Given the description of an element on the screen output the (x, y) to click on. 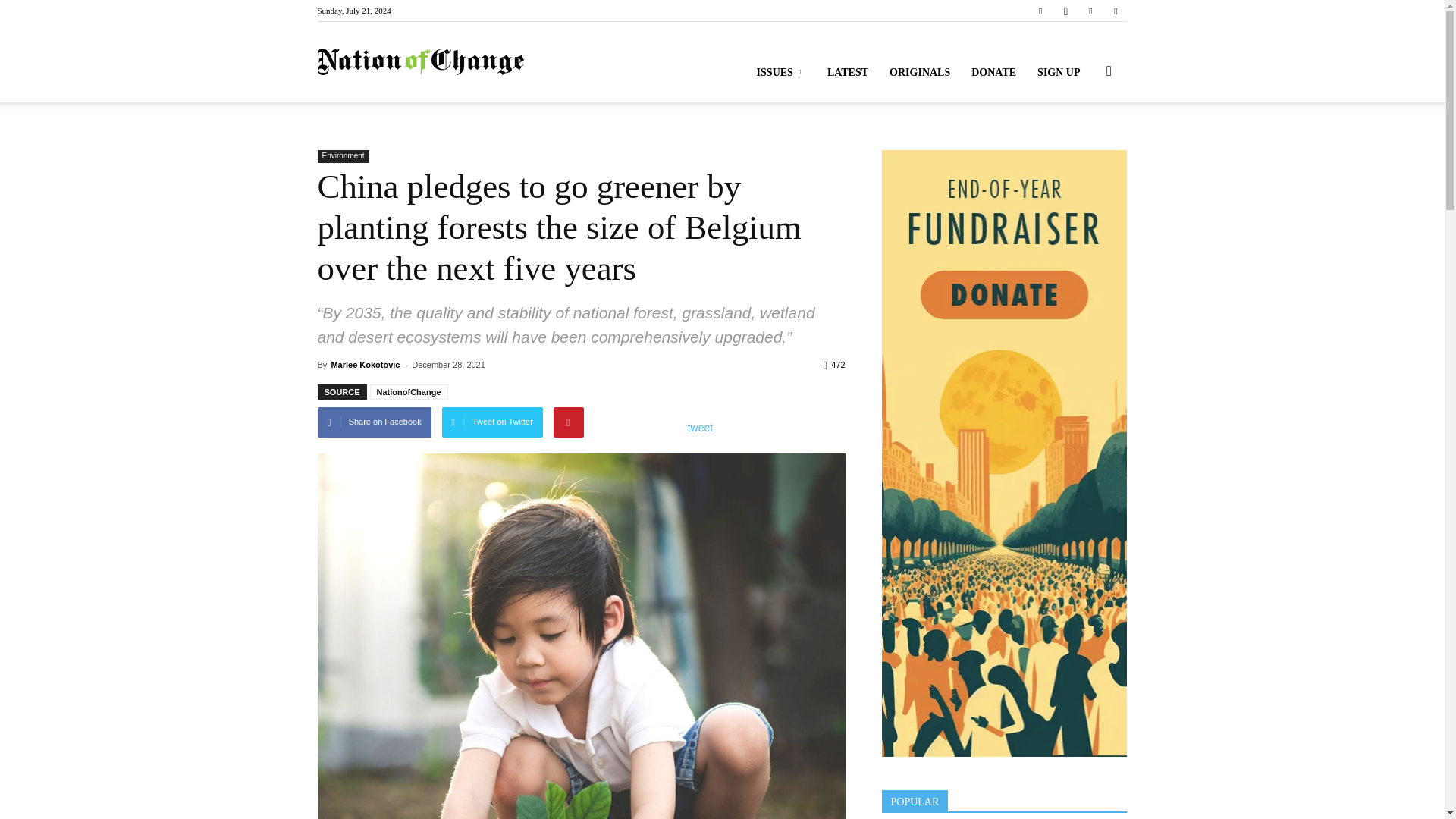
Youtube (1114, 10)
Twitter (1090, 10)
NationofChange (419, 61)
ISSUES (780, 72)
Facebook (1040, 10)
Instagram (1065, 10)
